Given the description of an element on the screen output the (x, y) to click on. 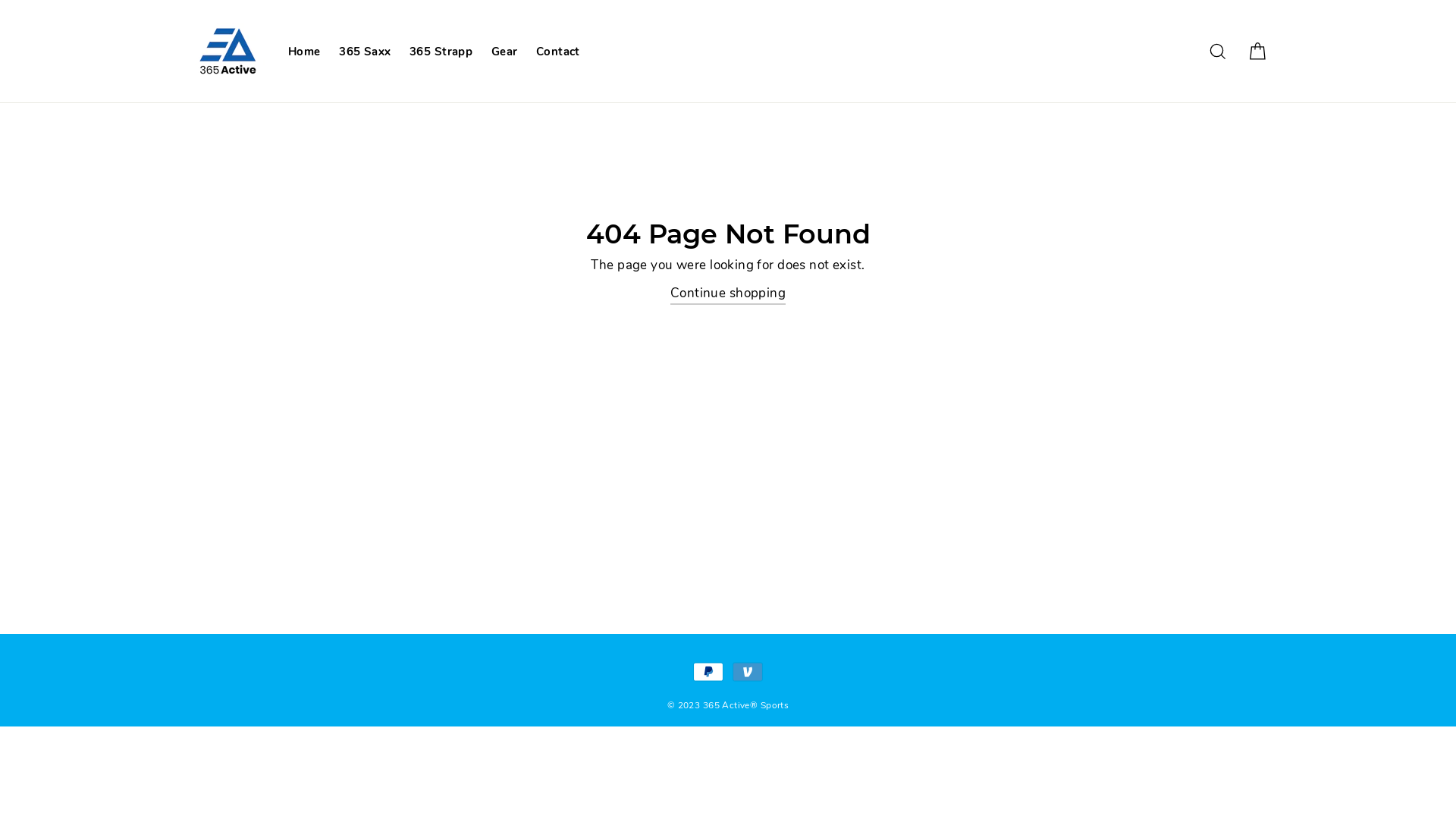
Contact Element type: text (557, 50)
Skip to content Element type: text (0, 0)
365 Strapp Element type: text (440, 50)
Cart Element type: text (1257, 50)
Home Element type: text (304, 50)
365 Saxx Element type: text (364, 50)
Search Element type: text (1217, 50)
Continue shopping Element type: text (727, 293)
Gear Element type: text (504, 50)
